Given the description of an element on the screen output the (x, y) to click on. 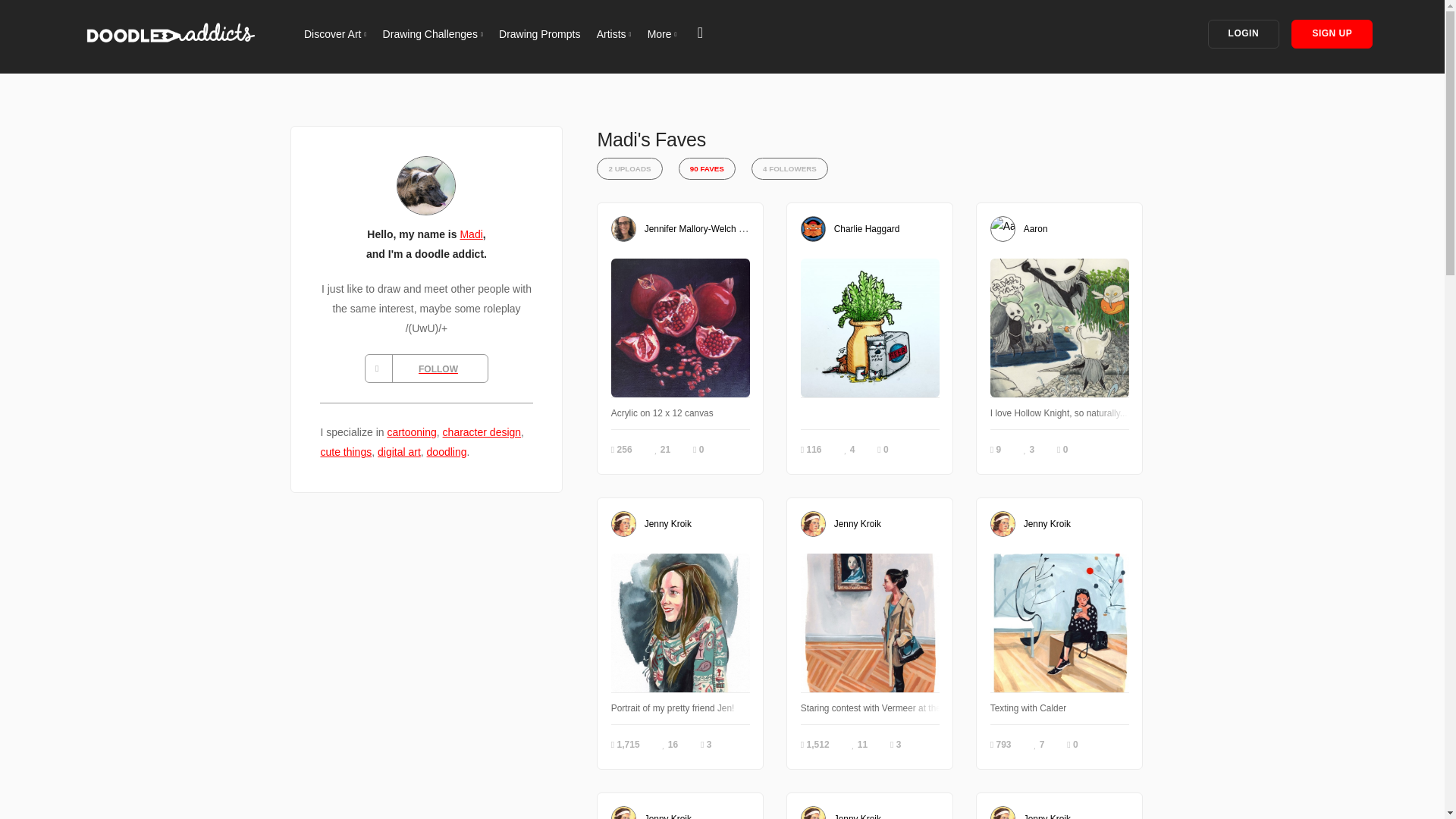
LOGIN (1243, 33)
character design (481, 431)
cute things (345, 451)
cartooning (411, 431)
4 FOLLOWERS (789, 168)
doodling (446, 451)
Charlie Haggard (866, 228)
Jennifer Mallory-Welch (690, 228)
FOLLOW (426, 368)
digital art (398, 451)
Madi (470, 234)
Drawing Prompts (539, 33)
SIGN UP (1331, 33)
90 FAVES (706, 168)
2 UPLOADS (629, 168)
